Given the description of an element on the screen output the (x, y) to click on. 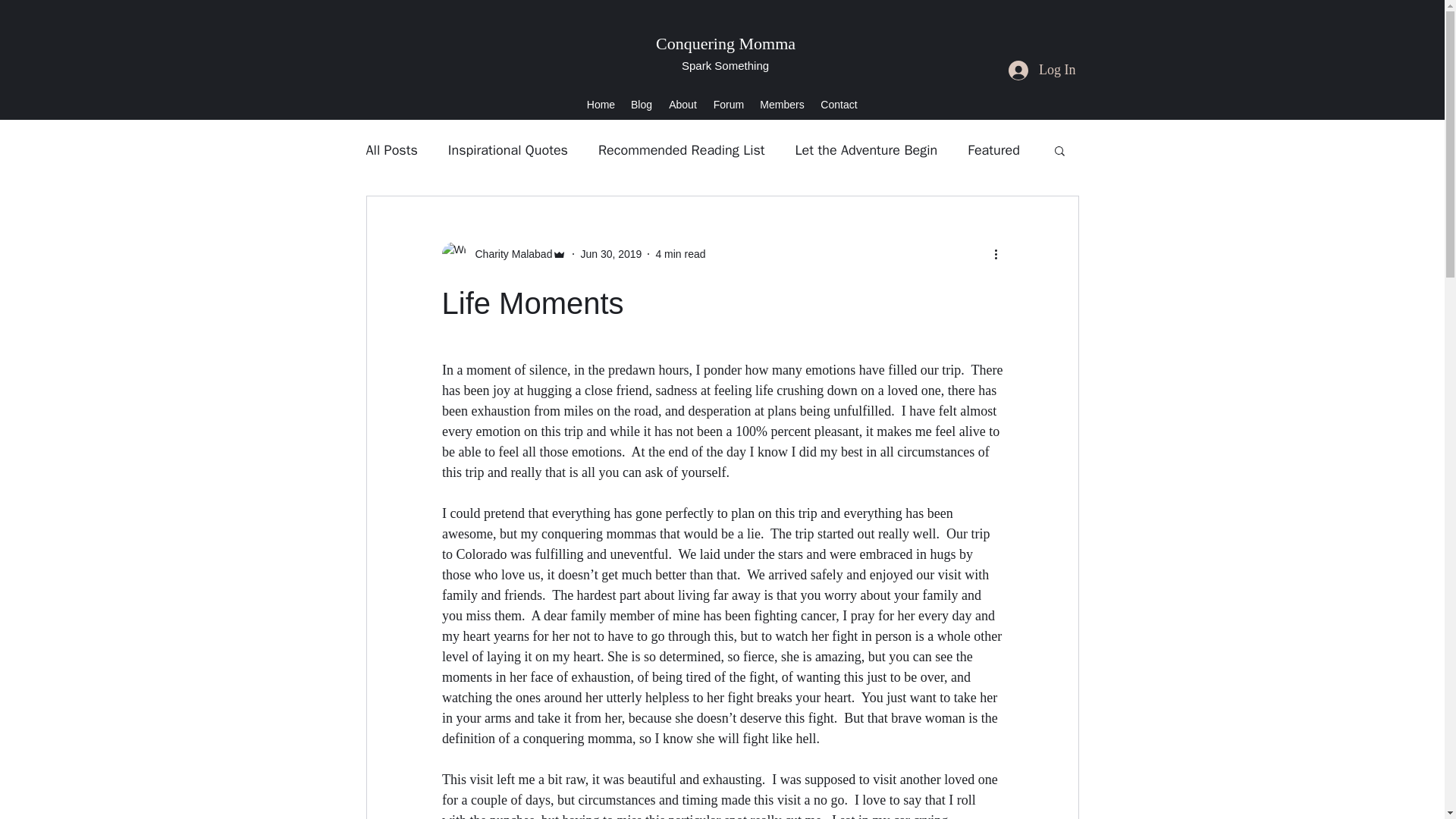
Conquering Momma (725, 43)
Blog (641, 104)
Featured (994, 149)
About (681, 104)
Contact (838, 104)
Jun 30, 2019 (610, 253)
Home (600, 104)
Log In (1041, 70)
Let the Adventure Begin (865, 149)
Inspirational Quotes (507, 149)
